Given the description of an element on the screen output the (x, y) to click on. 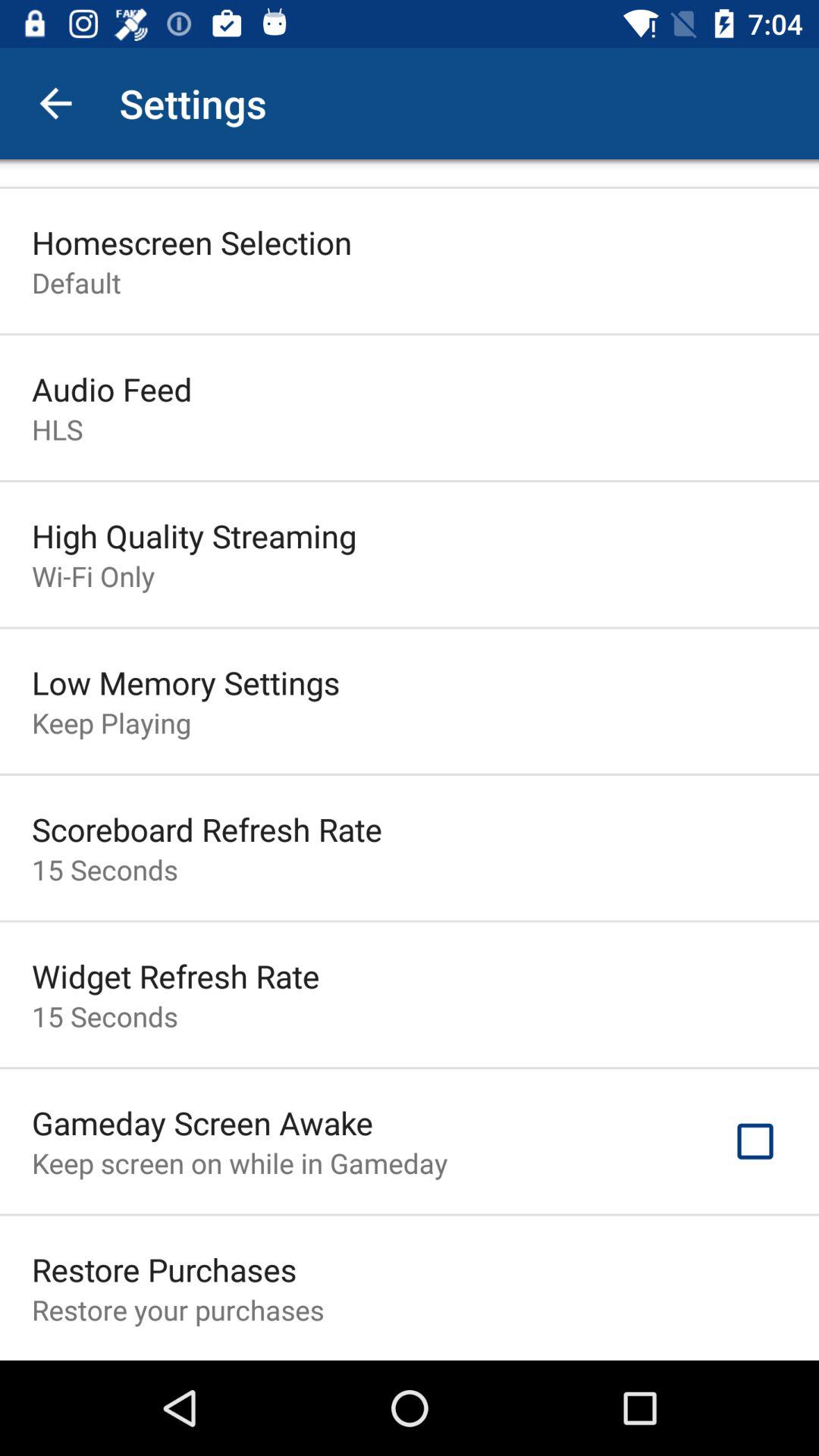
turn on icon to the left of the settings icon (55, 103)
